Given the description of an element on the screen output the (x, y) to click on. 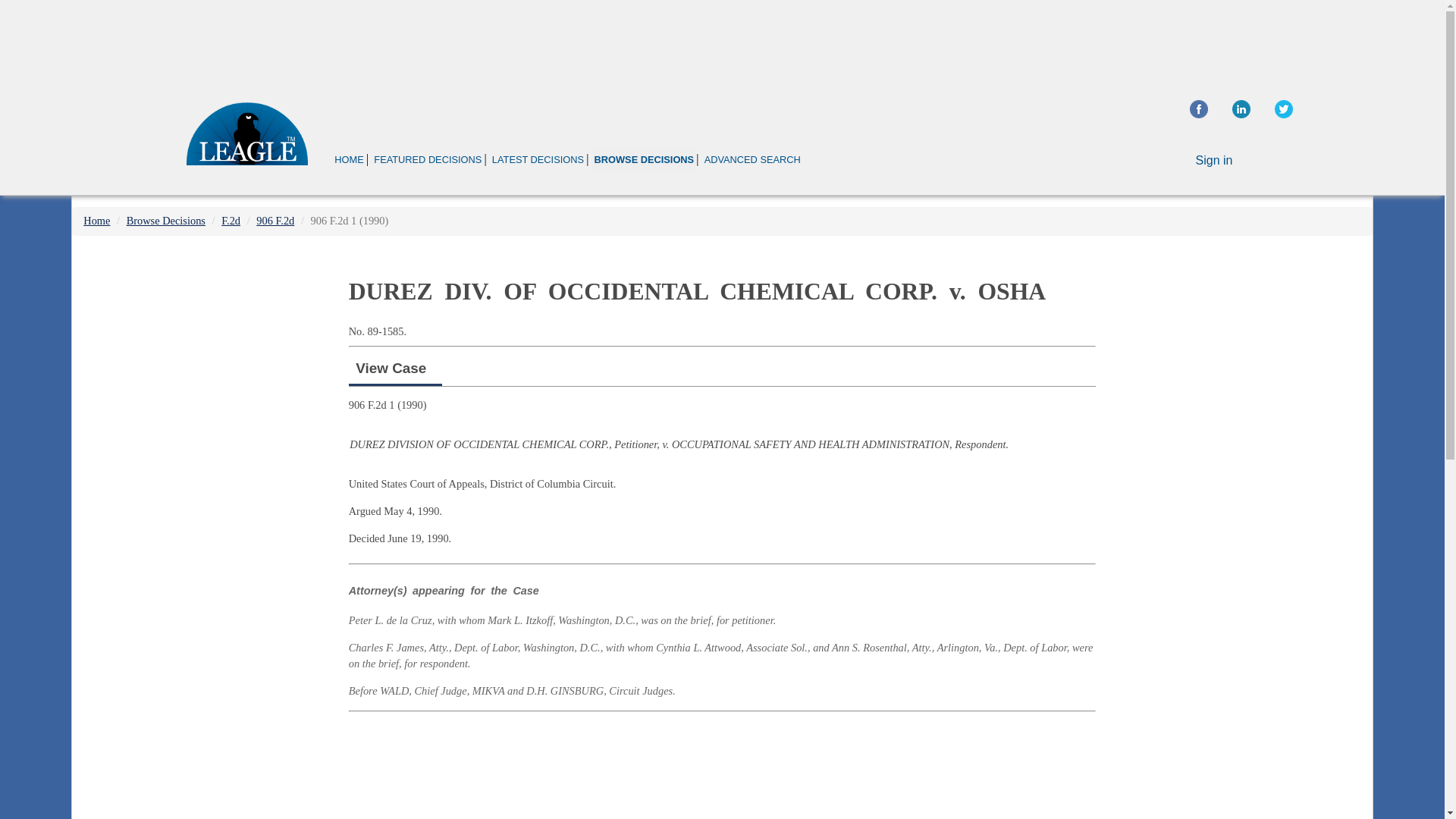
906 F.2d (275, 220)
Sign in (1214, 160)
FEATURED DECISIONS (427, 159)
BROWSE DECISIONS (643, 159)
Advertisement (722, 768)
HOME (348, 159)
ADVANCED SEARCH (752, 159)
LATEST DECISIONS (537, 159)
F.2d (230, 220)
View Case (390, 367)
